Given the description of an element on the screen output the (x, y) to click on. 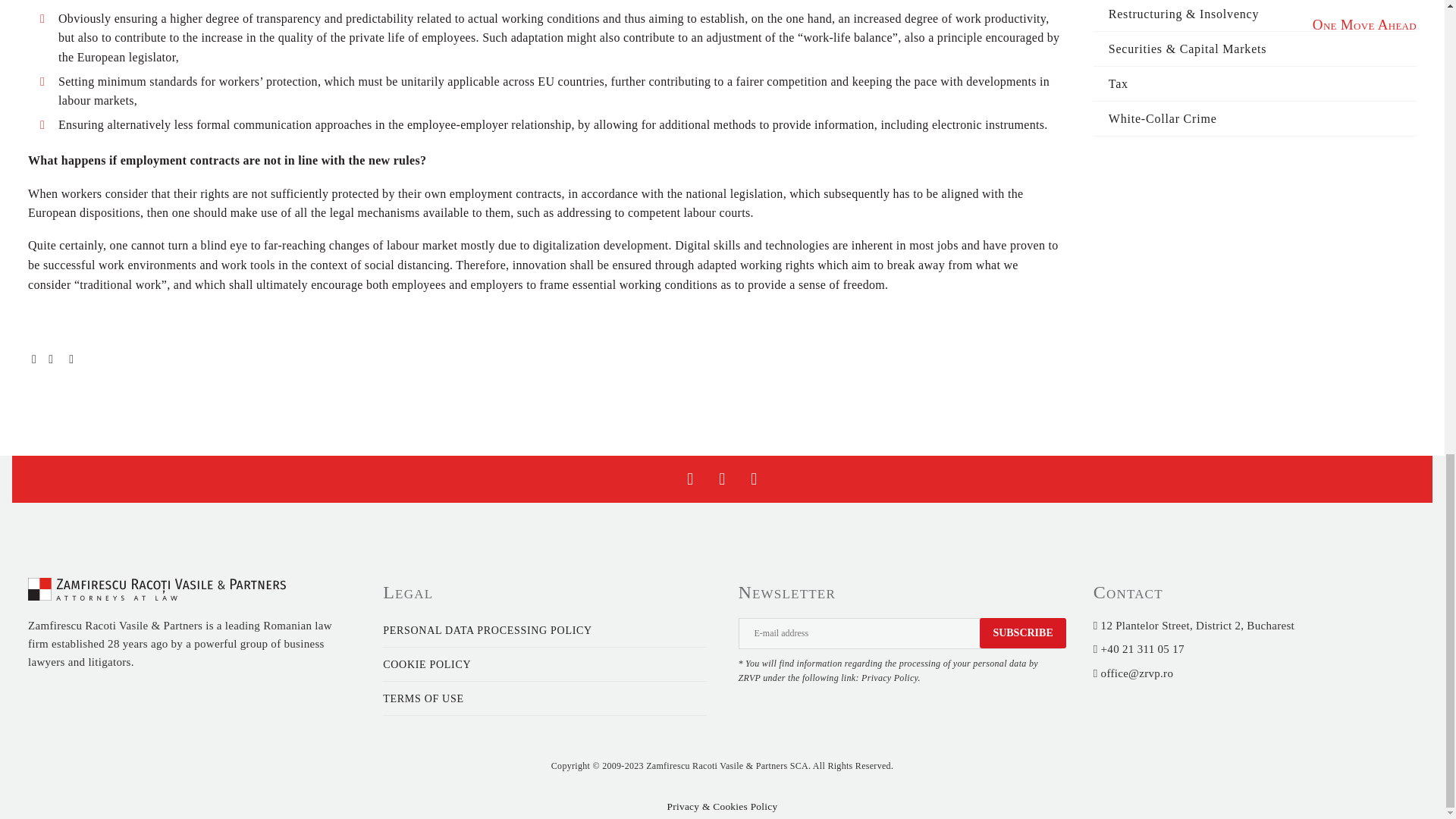
Facebook (33, 358)
Subscribe (1022, 633)
LinkedIn (71, 358)
email (899, 633)
Twitter (49, 358)
